Given the description of an element on the screen output the (x, y) to click on. 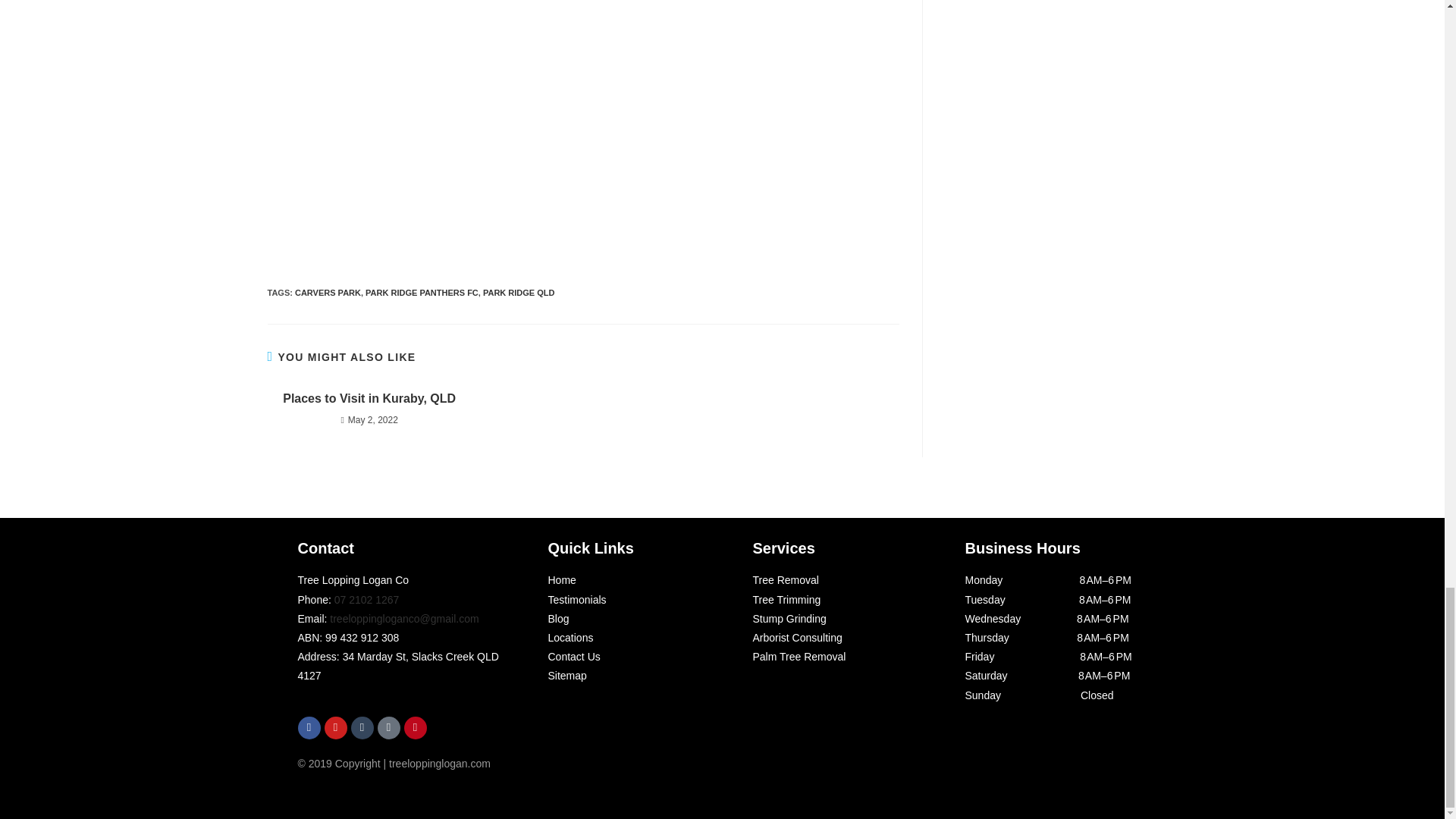
PARK RIDGE QLD (518, 292)
CARVERS PARK (328, 292)
Places to Visit in Kuraby, QLD (368, 398)
PARK RIDGE PANTHERS FC (422, 292)
